Given the description of an element on the screen output the (x, y) to click on. 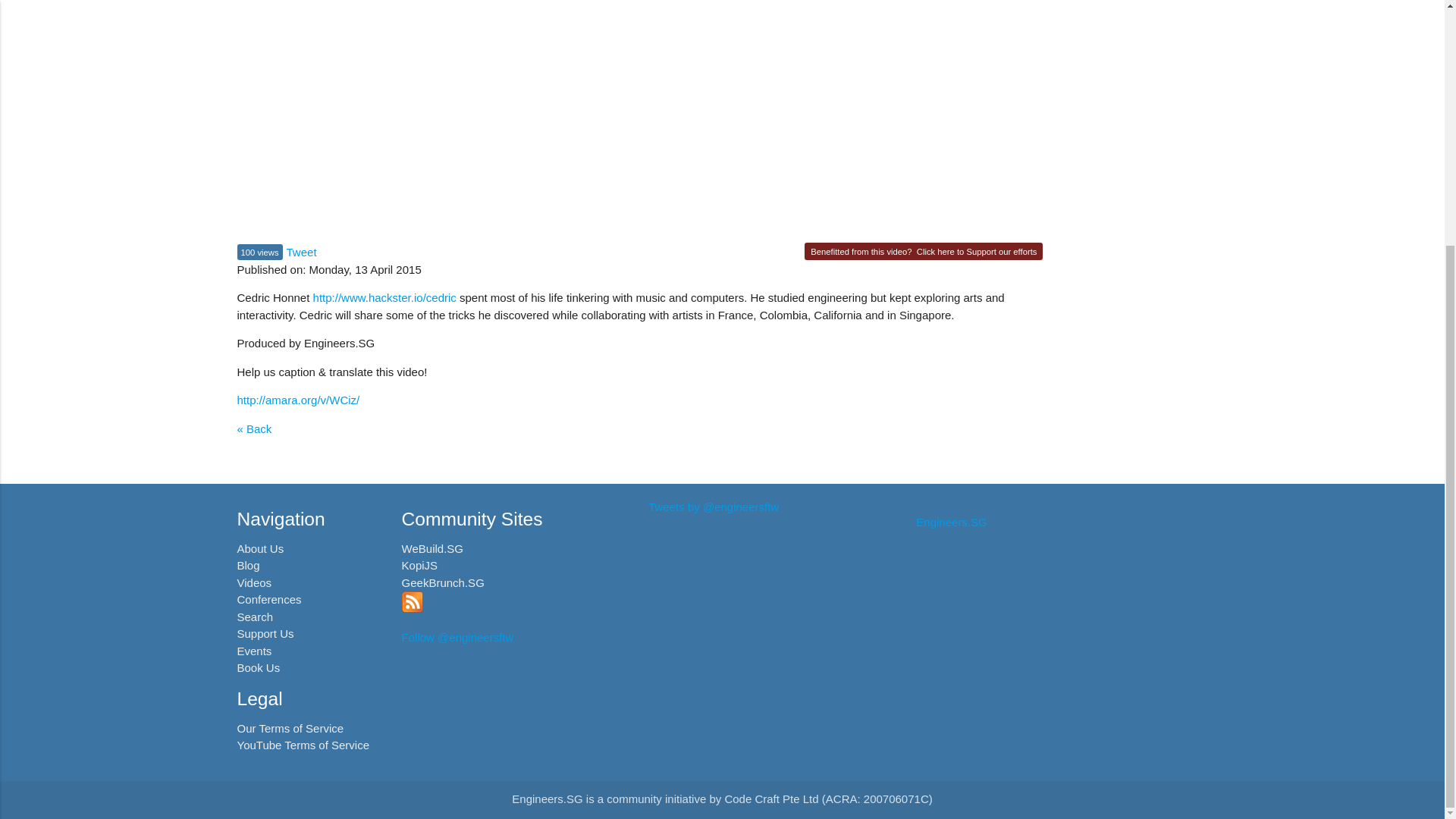
About Us (259, 548)
ATOM Feed (412, 608)
YouTube Terms of Service (302, 744)
Click here to Support our efforts (976, 251)
Videos (252, 582)
Support Us (264, 633)
KopiJS (419, 564)
Search (254, 616)
Tweet (301, 251)
Book Us (257, 667)
